Given the description of an element on the screen output the (x, y) to click on. 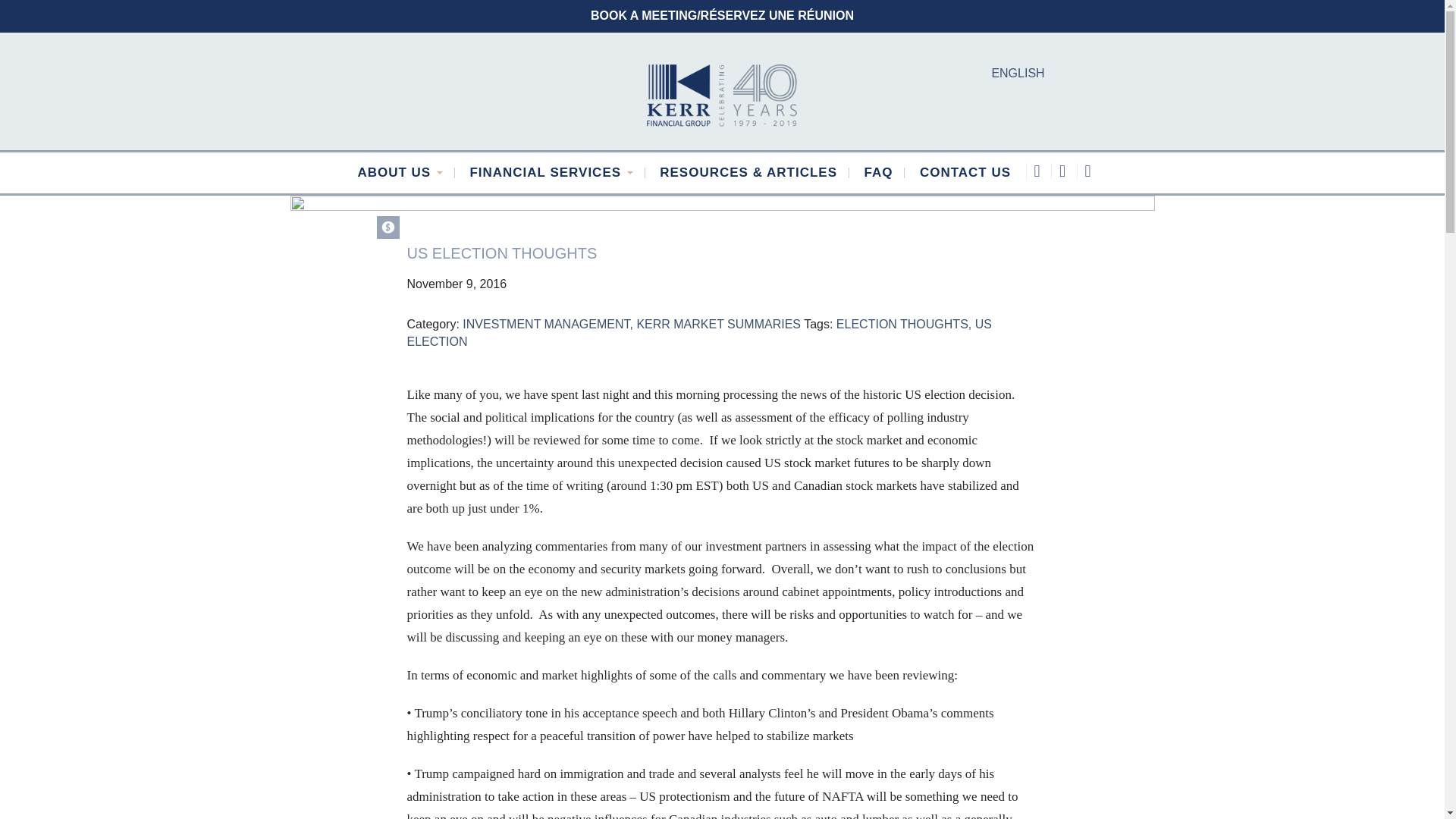
ENGLISH (1017, 73)
KERR FINANCIAL (721, 94)
CONTACT US (965, 172)
INVESTMENT MANAGEMENT, KERR MARKET SUMMARIES (631, 323)
Contact Us (965, 172)
About Us (400, 172)
ELECTION THOUGHTS, US ELECTION (698, 332)
Faq (877, 172)
Financial Services (551, 172)
FINANCIAL SERVICES (551, 172)
ABOUT US (400, 172)
Investment Management (386, 227)
FAQ (877, 172)
